Given the description of an element on the screen output the (x, y) to click on. 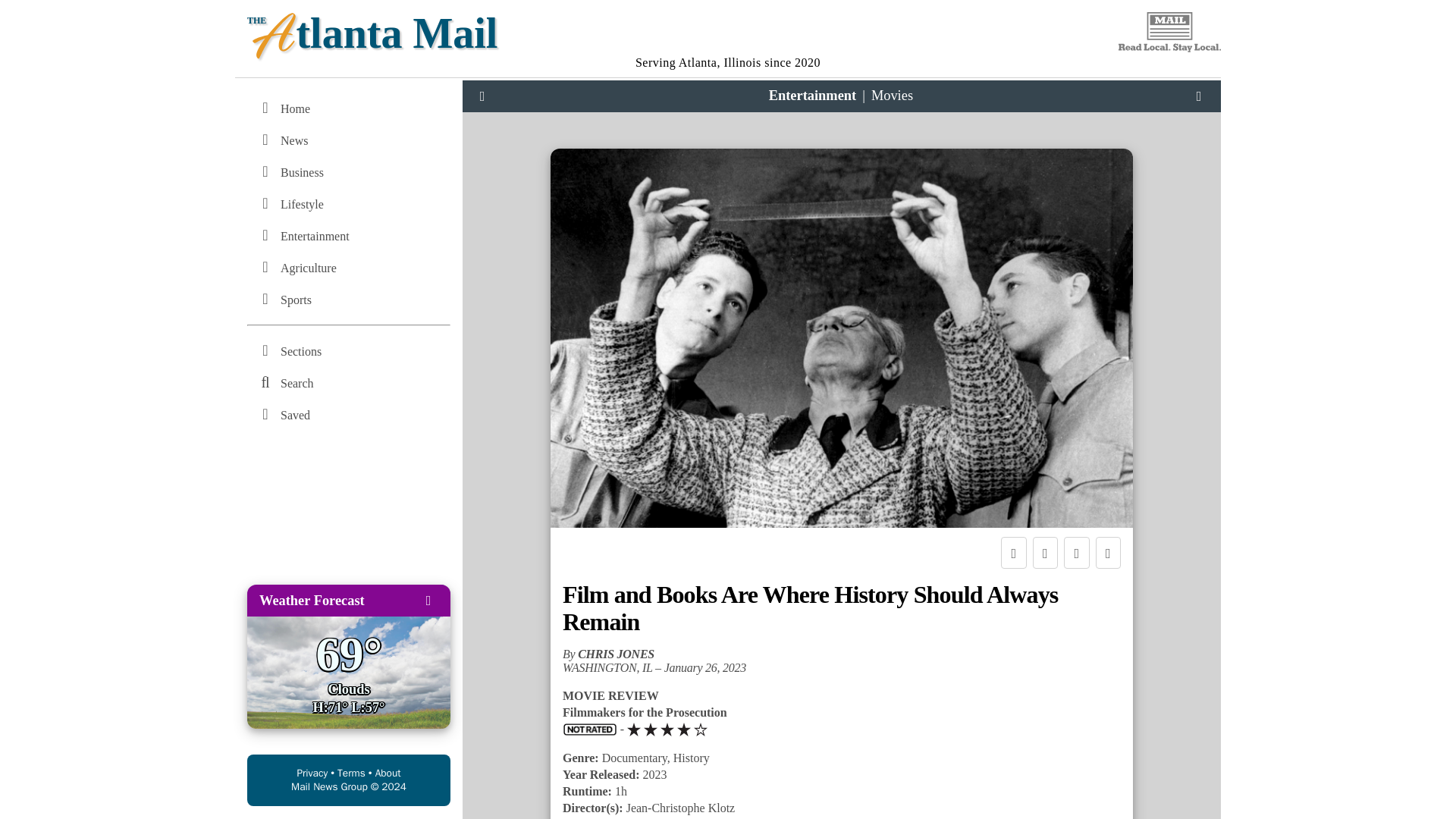
Atlanta Mail (727, 27)
